Given the description of an element on the screen output the (x, y) to click on. 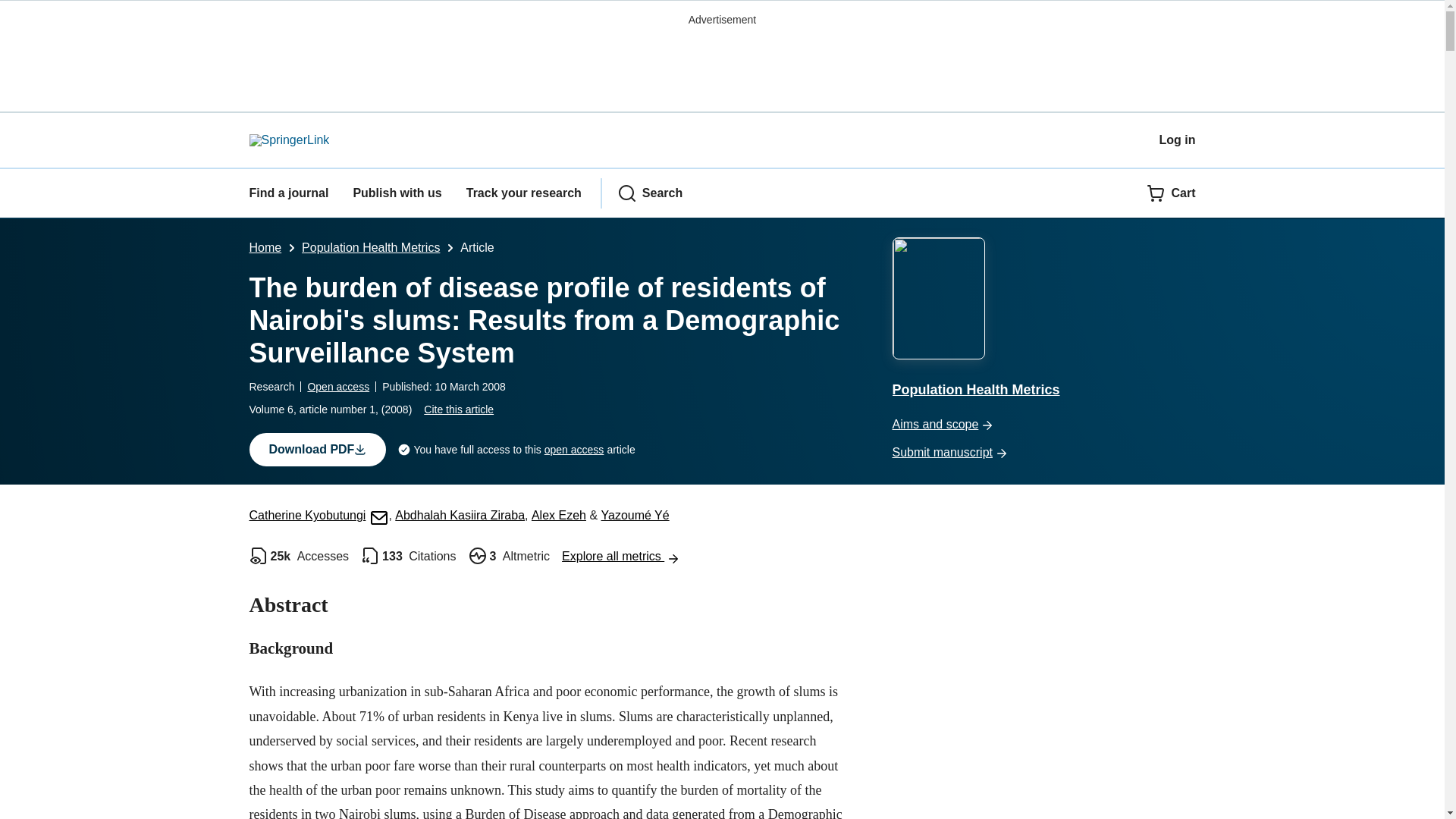
Cite this article (458, 409)
Explore all metrics (620, 555)
Log in (1177, 139)
Search (649, 192)
Catherine Kyobutungi (318, 514)
Download PDF (316, 449)
Home (264, 246)
Alex Ezeh (558, 514)
Publish with us (396, 192)
open access (574, 449)
Population Health Metrics (370, 246)
Aims and scope (1043, 424)
Cart (1170, 192)
Open access (338, 386)
Abdhalah Kasiira Ziraba (459, 514)
